Given the description of an element on the screen output the (x, y) to click on. 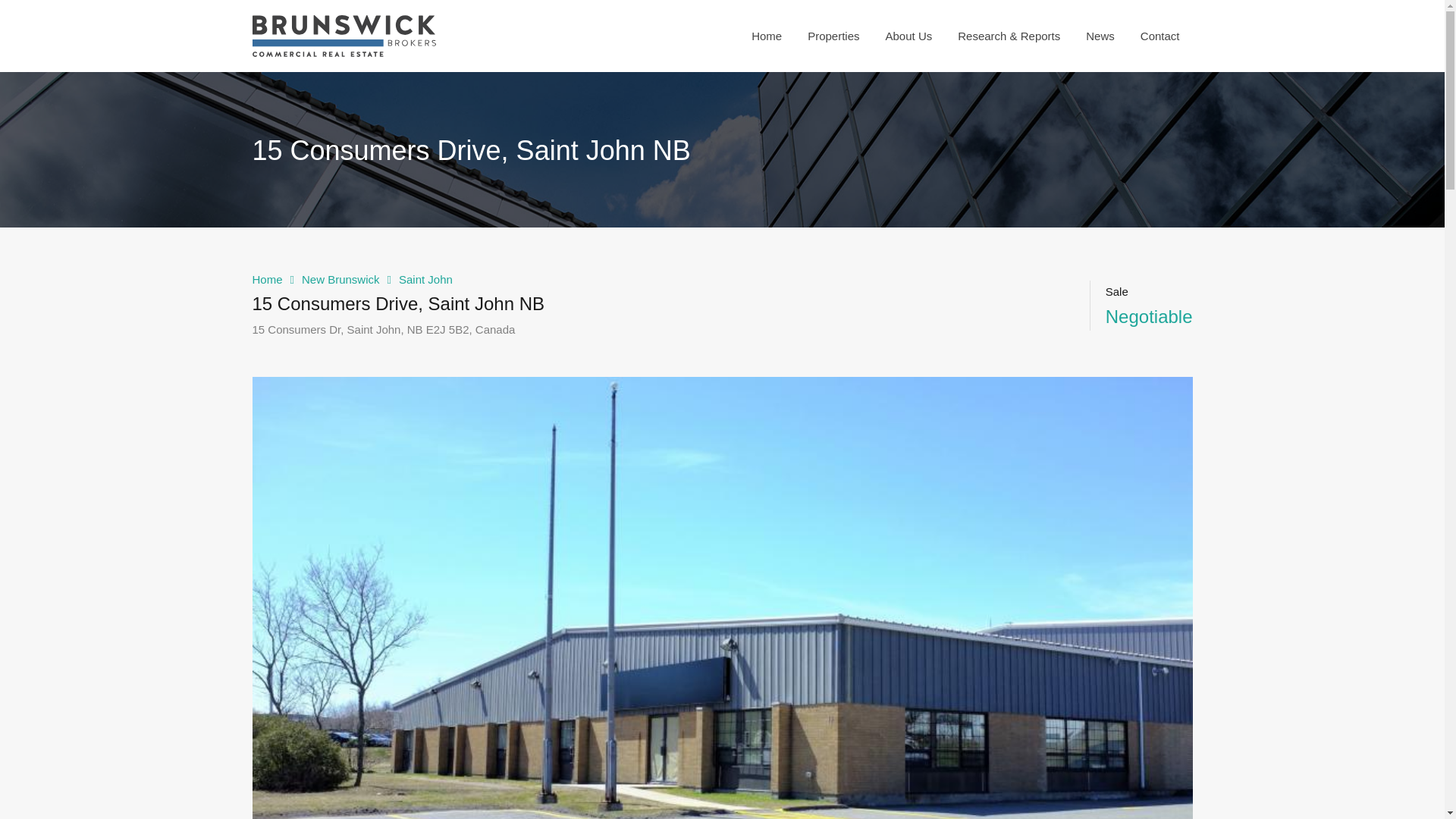
Saint John (425, 279)
Home (266, 279)
Contact (1159, 35)
Properties (833, 35)
New Brunswick (340, 279)
News (1099, 35)
Home (766, 35)
About Us (908, 35)
